Given the description of an element on the screen output the (x, y) to click on. 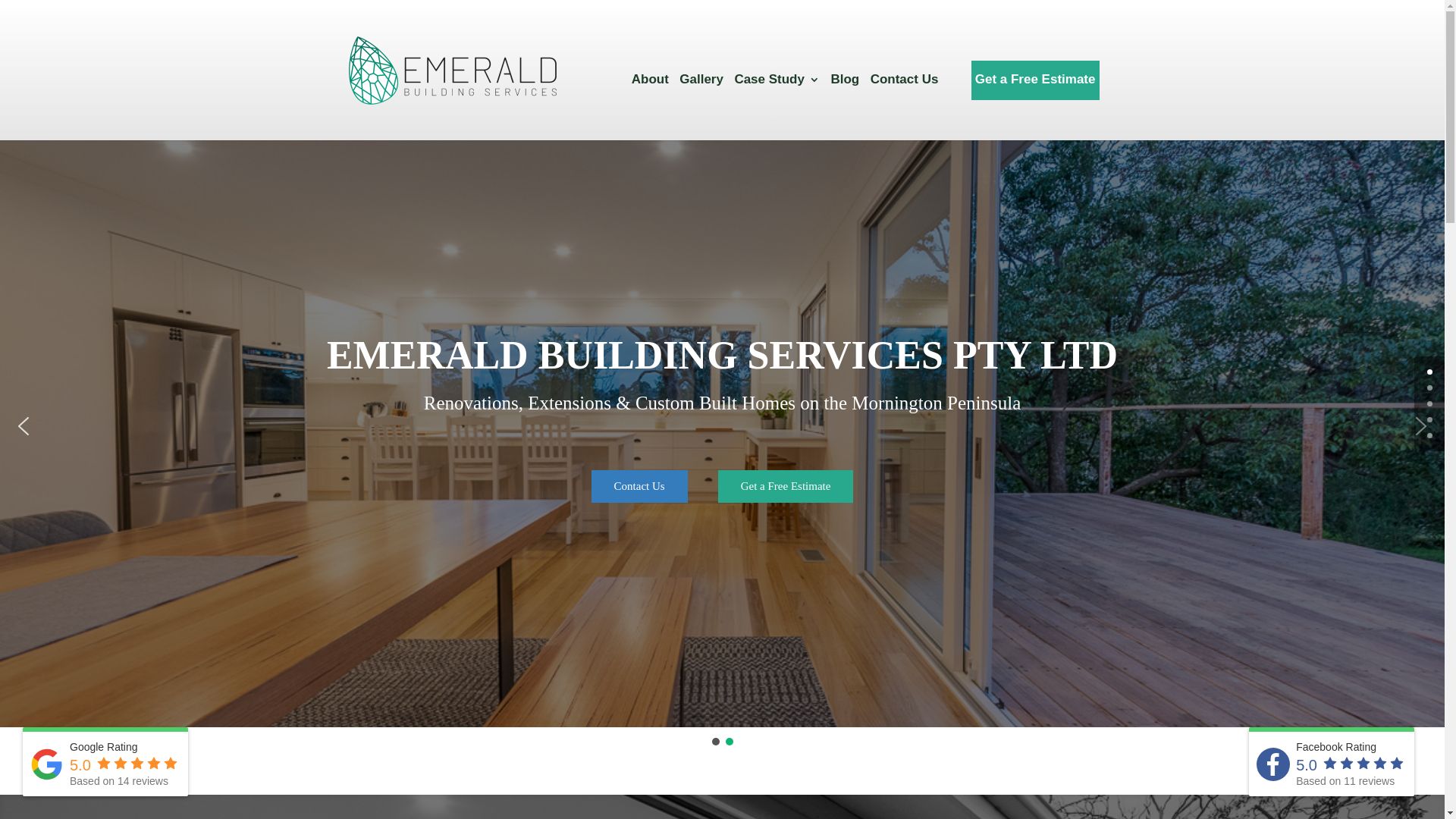
About Element type: text (649, 98)
2 Element type: text (1429, 403)
Contact Us Element type: text (904, 98)
Get a Free Estimate Element type: text (785, 486)
0 Element type: text (1429, 371)
1 Element type: text (1429, 387)
Gallery Element type: text (701, 98)
4 Element type: text (1429, 435)
Get a Free Estimate Element type: text (1035, 88)
Case Study Element type: text (776, 98)
3 Element type: text (1429, 419)
Contact Us Element type: text (639, 486)
Blog Element type: text (844, 98)
